Given the description of an element on the screen output the (x, y) to click on. 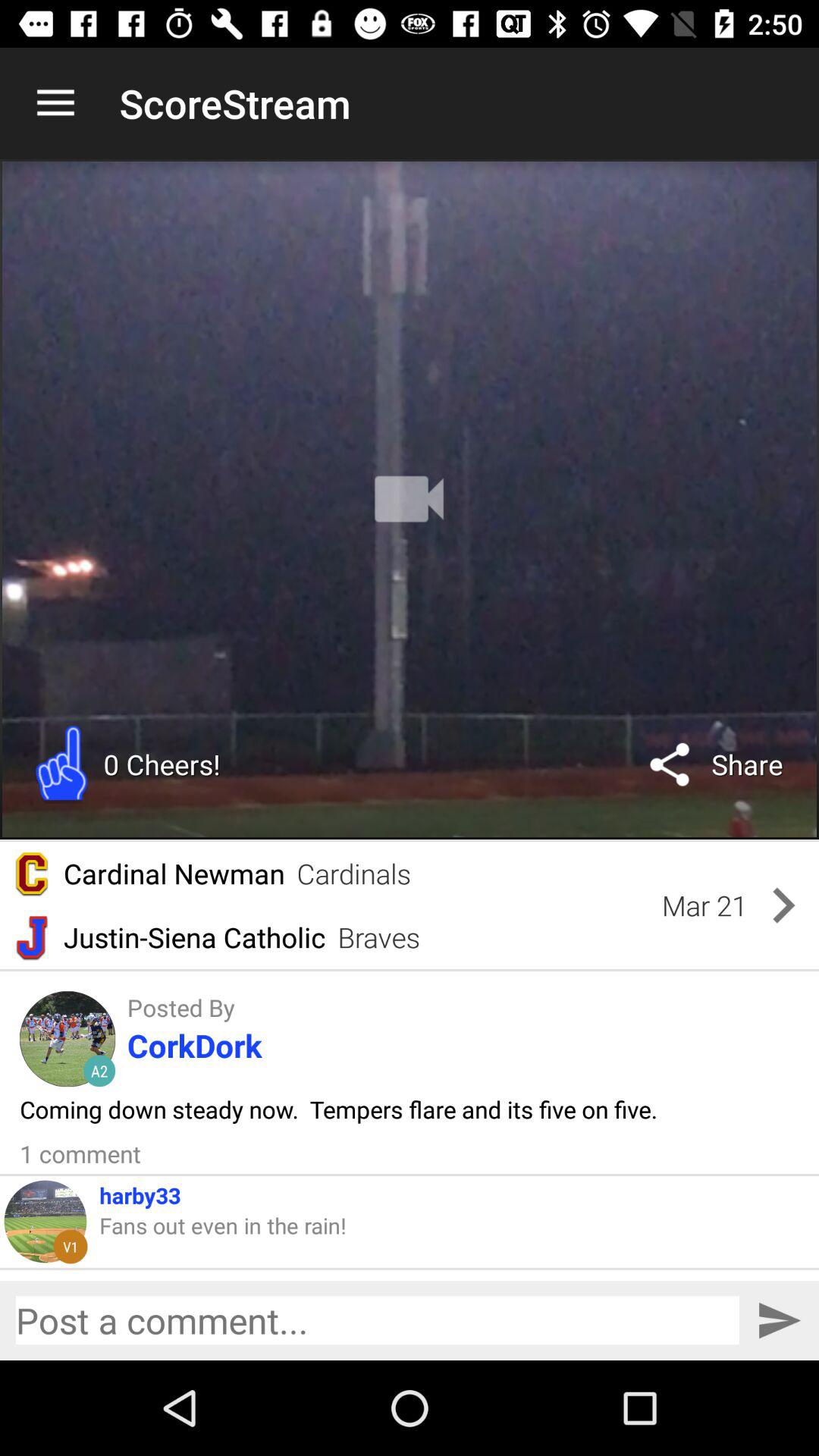
click the icon to the left of the braves item (194, 937)
